Given the description of an element on the screen output the (x, y) to click on. 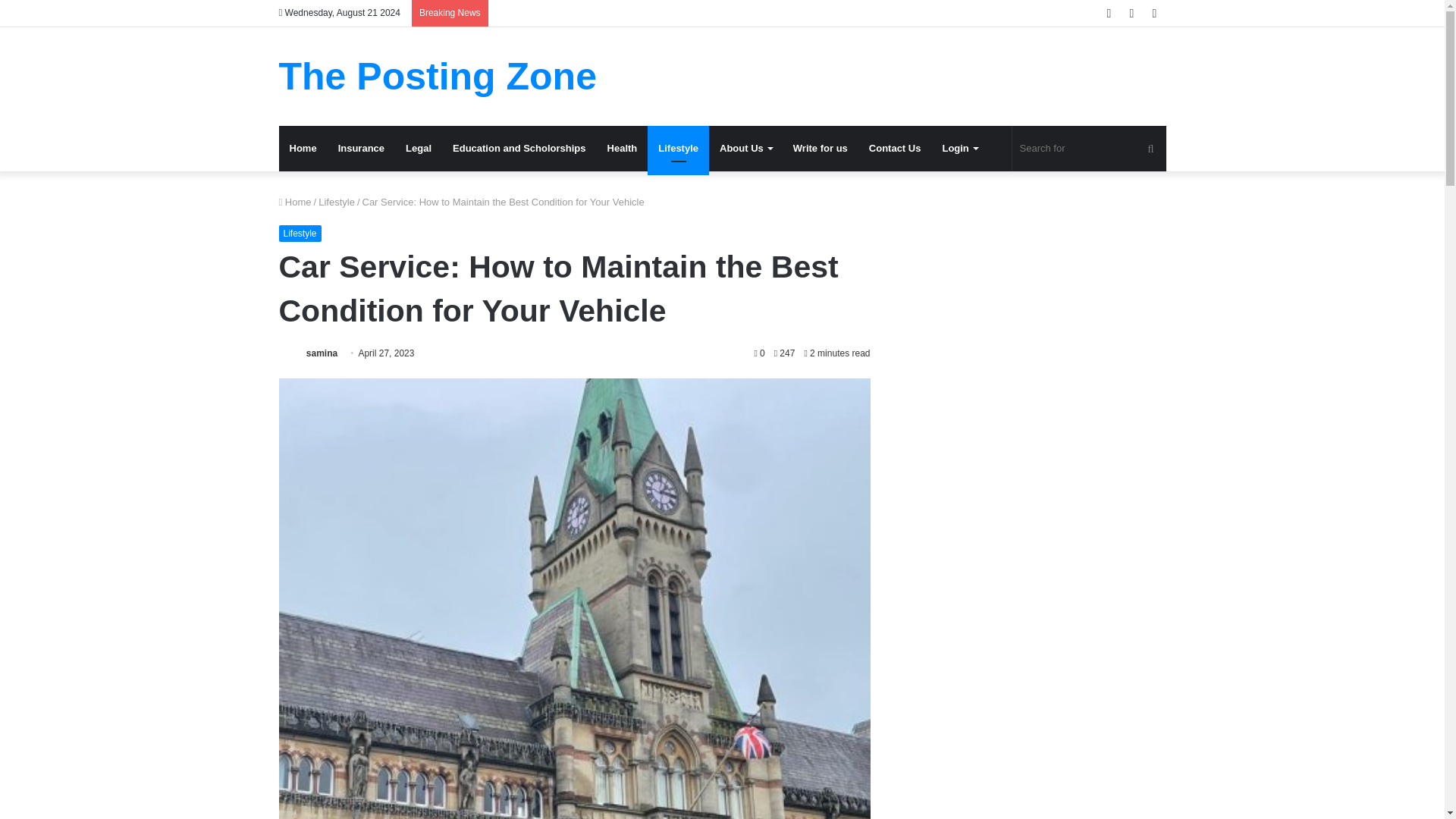
About Us (746, 148)
Contact Us (895, 148)
Write for us (821, 148)
Home (303, 148)
Health (621, 148)
Legal (418, 148)
samina (321, 353)
The Posting Zone (437, 76)
Search for (1088, 148)
Home (295, 202)
